Given the description of an element on the screen output the (x, y) to click on. 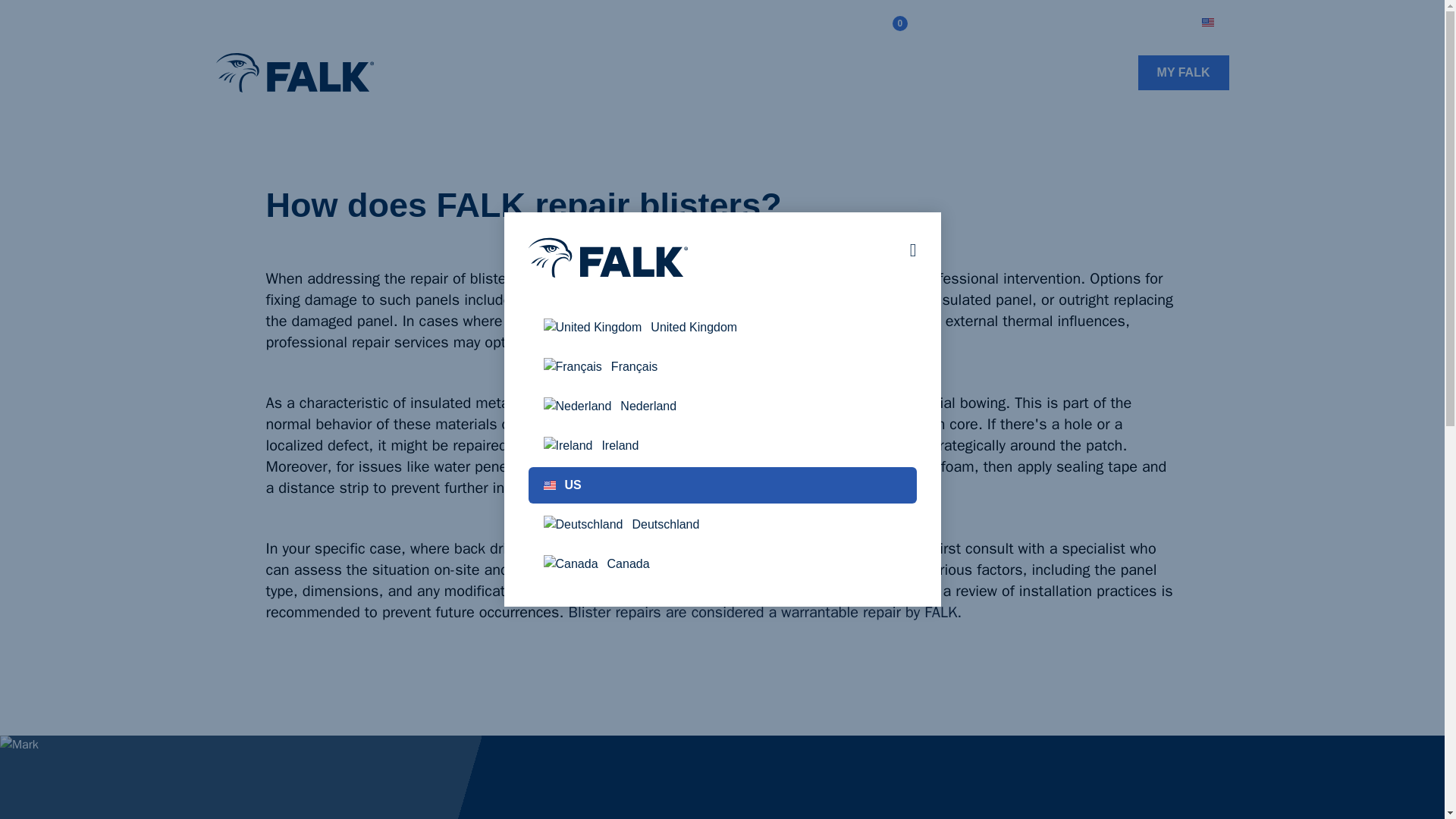
Resources (588, 75)
Products (433, 75)
Careers (1158, 22)
MY FALK (1183, 72)
Contact (670, 75)
FAQs (1107, 22)
Contact (670, 75)
Projects (510, 75)
Resources (588, 75)
About FALK (954, 22)
